Given the description of an element on the screen output the (x, y) to click on. 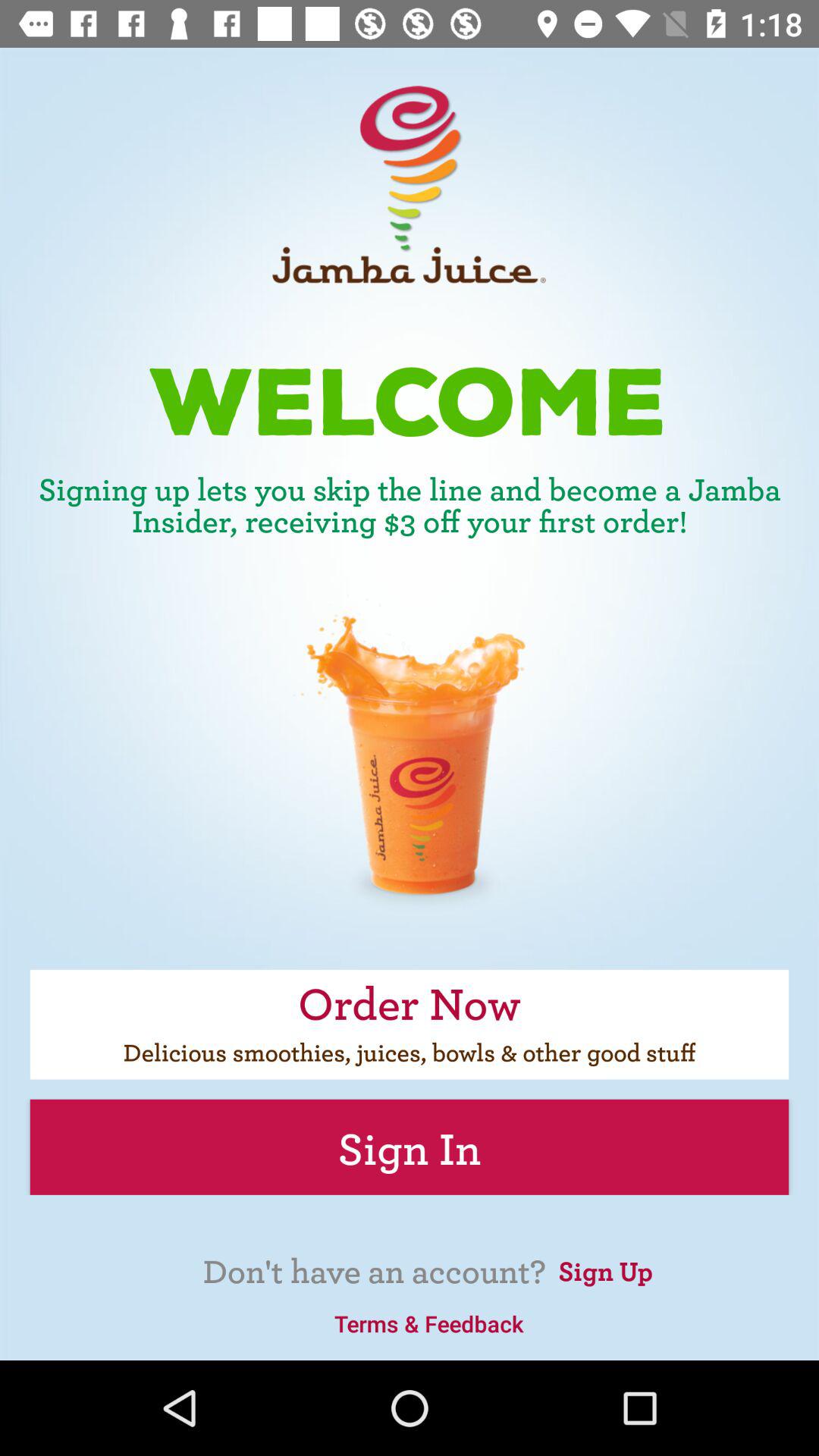
jump to sign up item (605, 1268)
